Given the description of an element on the screen output the (x, y) to click on. 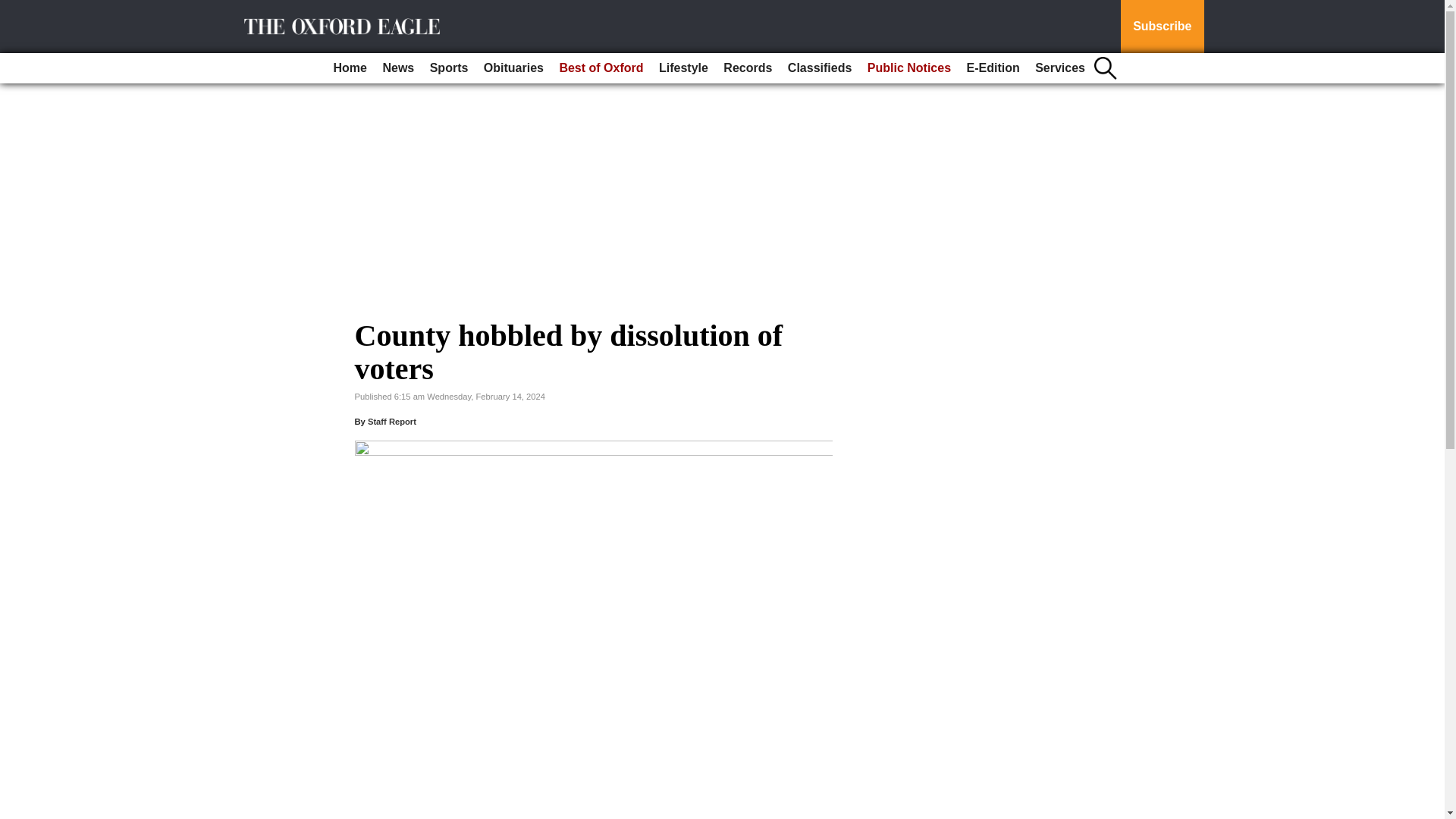
Subscribe (1162, 26)
News (397, 68)
Sports (448, 68)
Lifestyle (683, 68)
Classifieds (819, 68)
Best of Oxford (601, 68)
Home (349, 68)
Services (1059, 68)
Records (747, 68)
E-Edition (992, 68)
Public Notices (908, 68)
Staff Report (392, 420)
Obituaries (513, 68)
Go (13, 9)
